Given the description of an element on the screen output the (x, y) to click on. 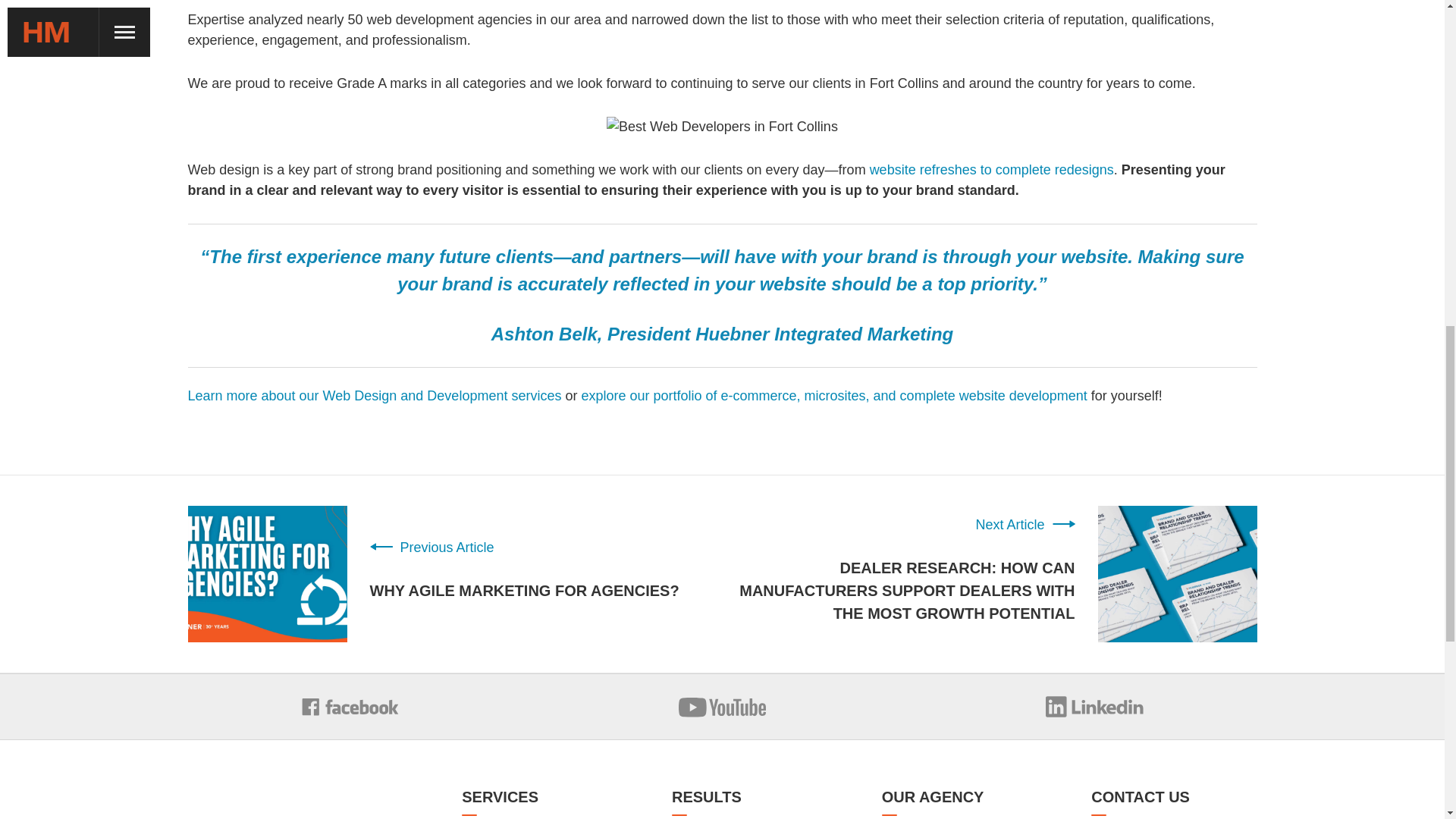
website refreshes to complete redesigns (991, 169)
Learn more about our Web Design and Development services (374, 395)
